Given the description of an element on the screen output the (x, y) to click on. 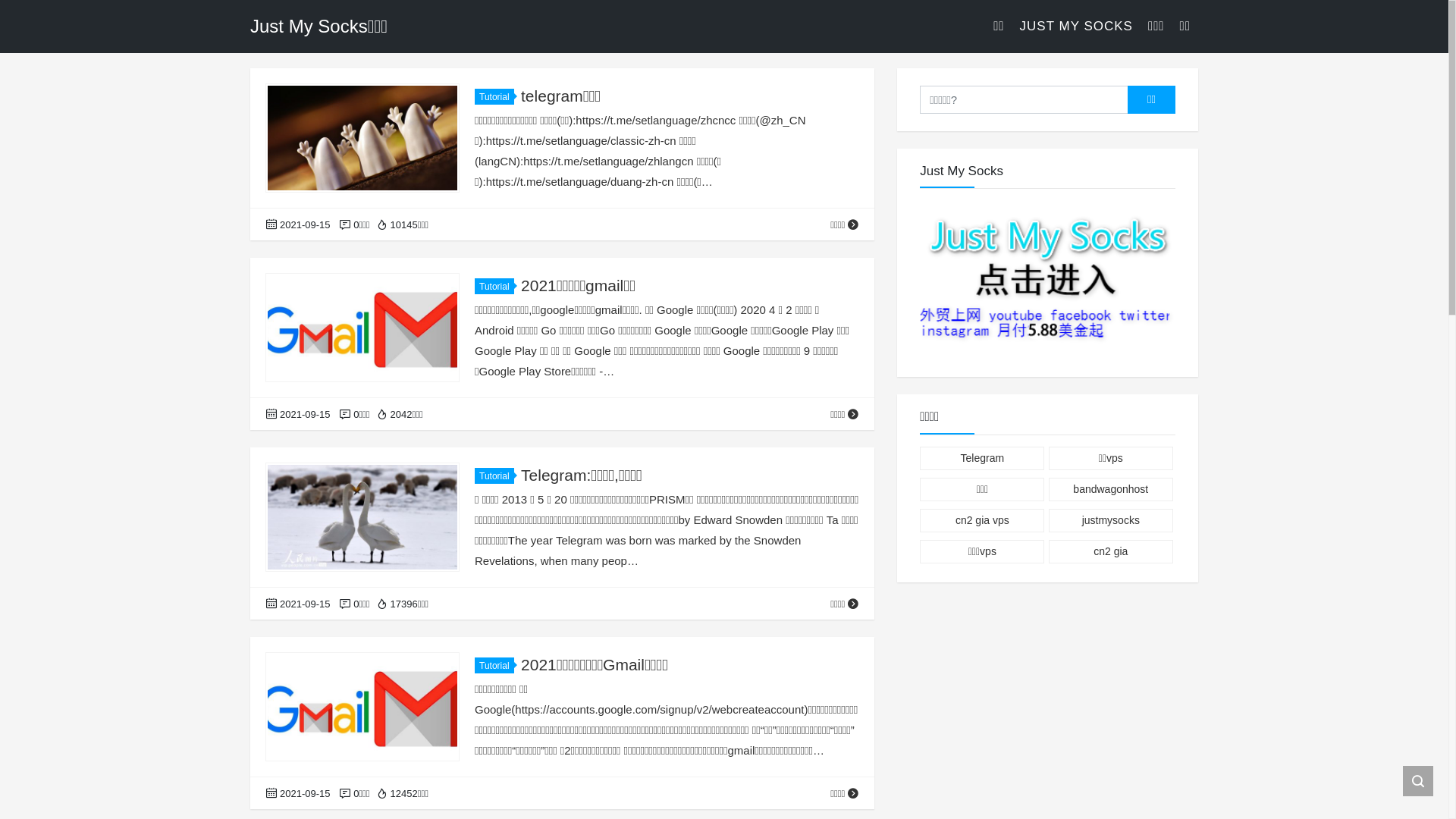
JUST MY SOCKS Element type: text (1076, 26)
justmysocks Element type: text (1110, 520)
Tutorial Element type: text (494, 665)
Tutorial Element type: text (494, 286)
bandwagonhost Element type: text (1110, 489)
cn2 gia vps Element type: text (981, 520)
Tutorial Element type: text (494, 475)
Telegram Element type: text (981, 458)
cn2 gia Element type: text (1110, 551)
Tutorial Element type: text (494, 96)
